Given the description of an element on the screen output the (x, y) to click on. 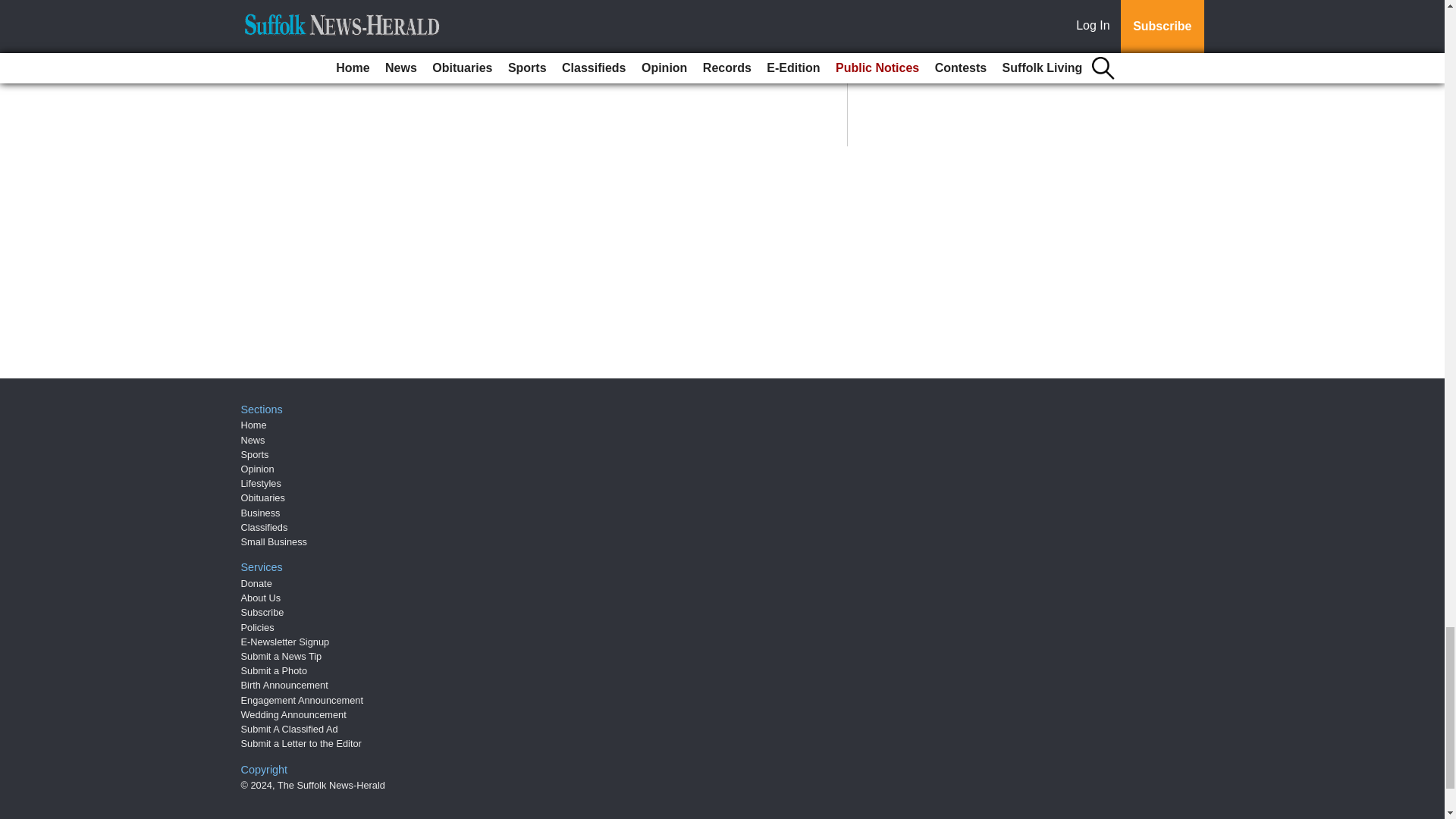
Print Article (384, 34)
News (252, 439)
Home (253, 424)
